Given the description of an element on the screen output the (x, y) to click on. 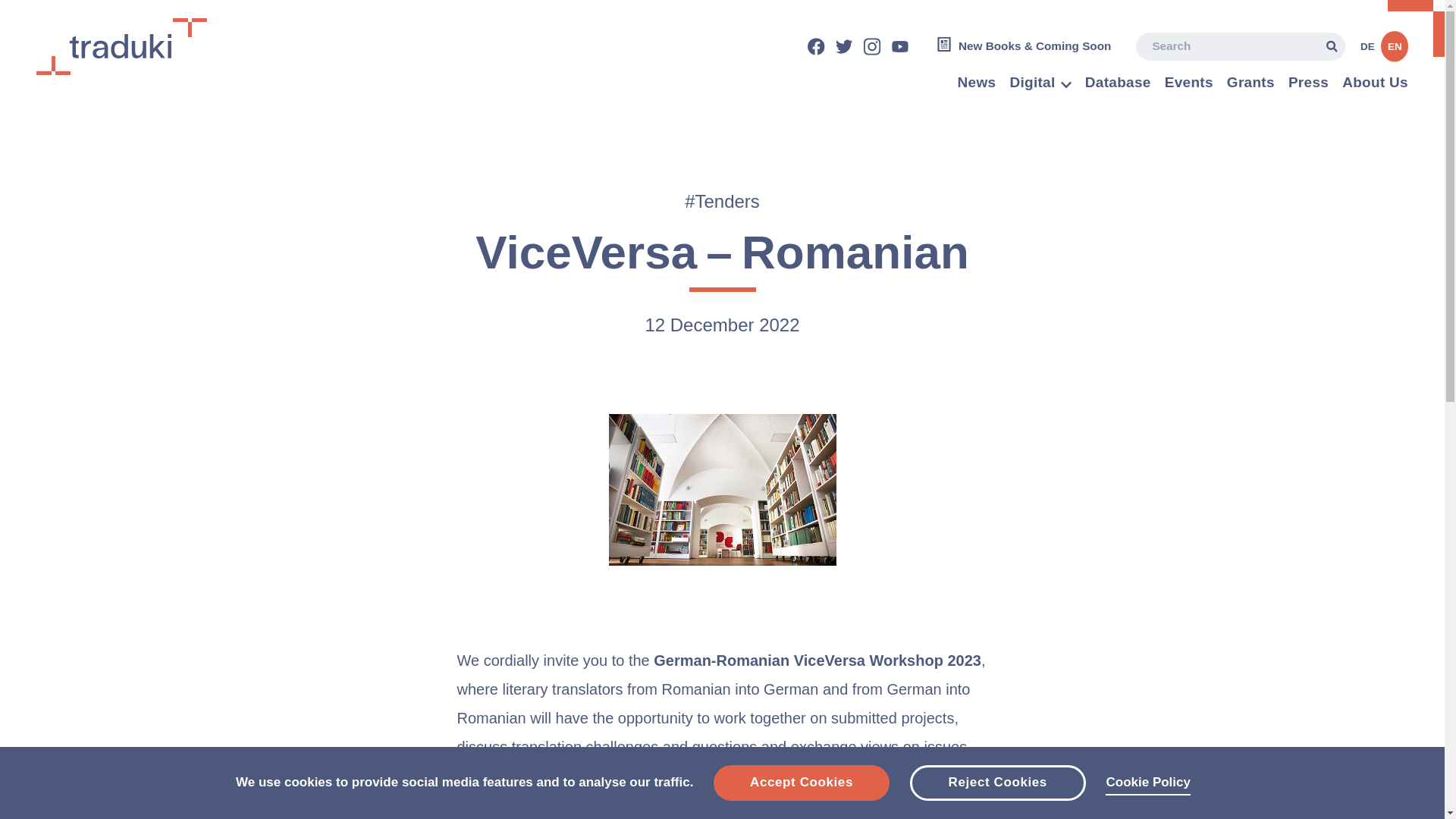
EN (1395, 48)
Grants (1251, 85)
DE (1369, 48)
Digital (1031, 85)
Events (1188, 85)
News (976, 85)
Press (1307, 85)
Database (1117, 85)
About Us (1374, 85)
